Given the description of an element on the screen output the (x, y) to click on. 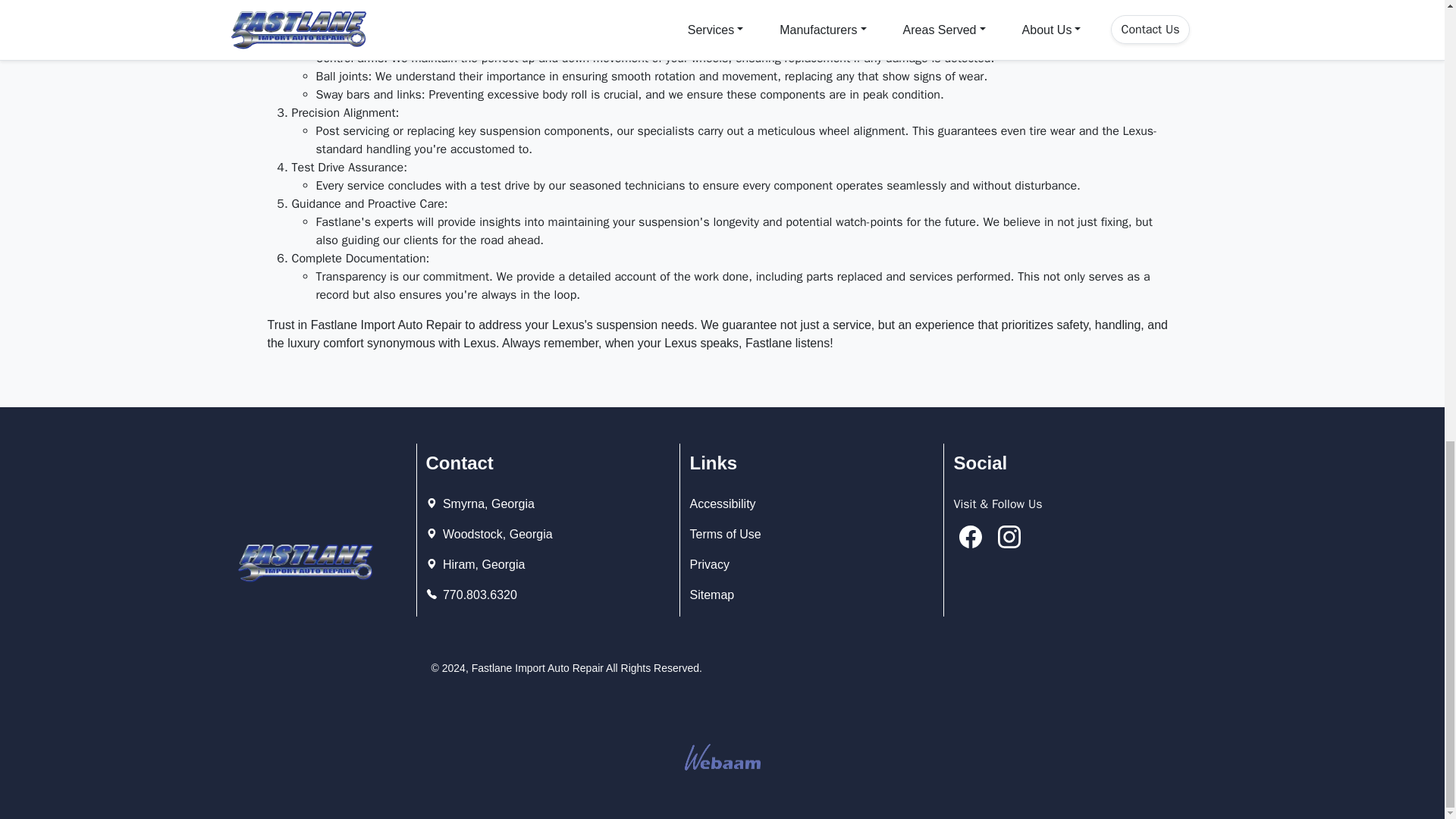
Fastlane Import Auto Repair Logo (304, 563)
